Given the description of an element on the screen output the (x, y) to click on. 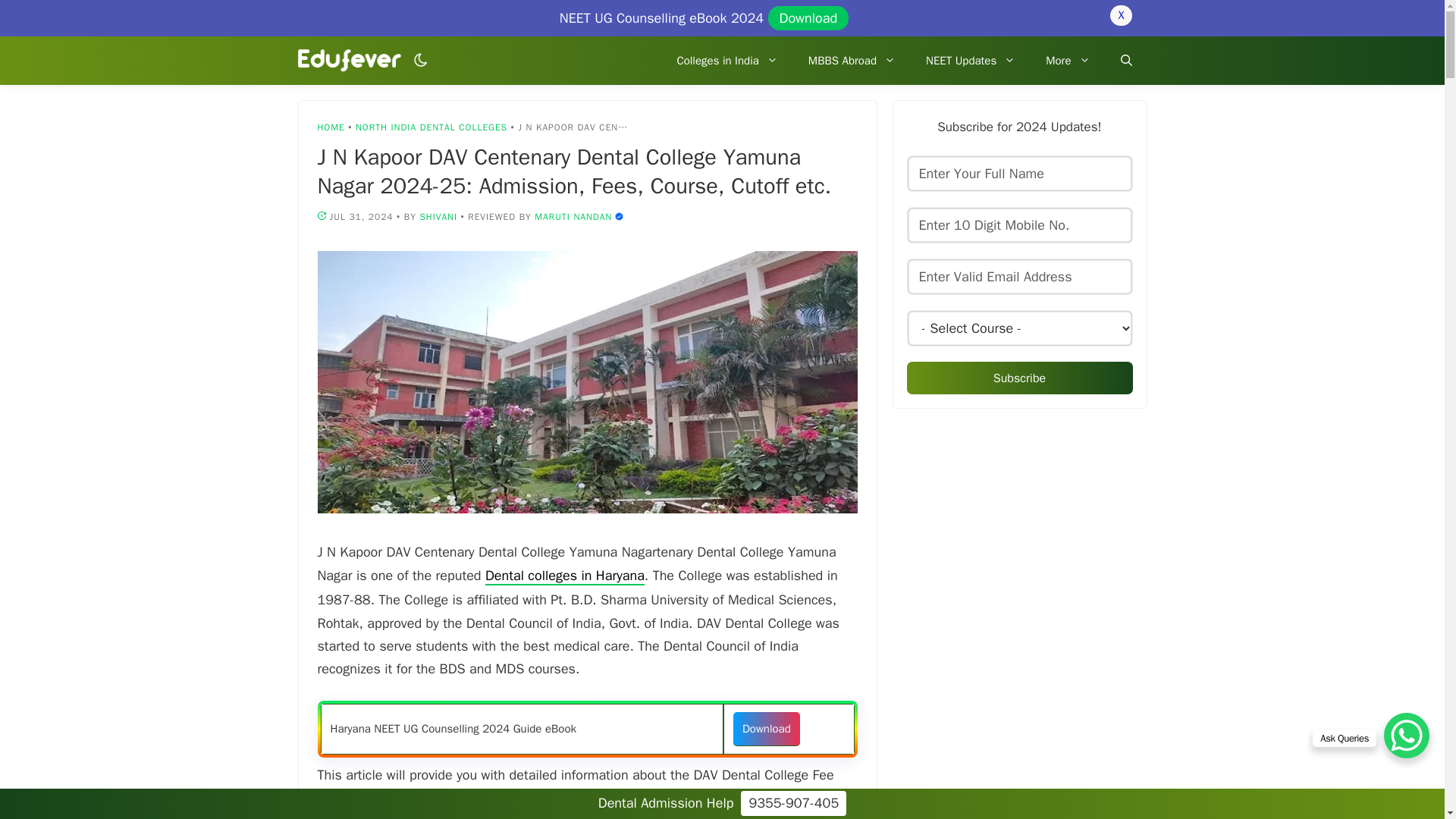
X (1120, 14)
Download (808, 17)
Edufever Expert (572, 216)
Edufever (349, 60)
EDUFEVER EXPERT (618, 216)
View all posts by Shivani (438, 216)
Edufever (353, 60)
